Given the description of an element on the screen output the (x, y) to click on. 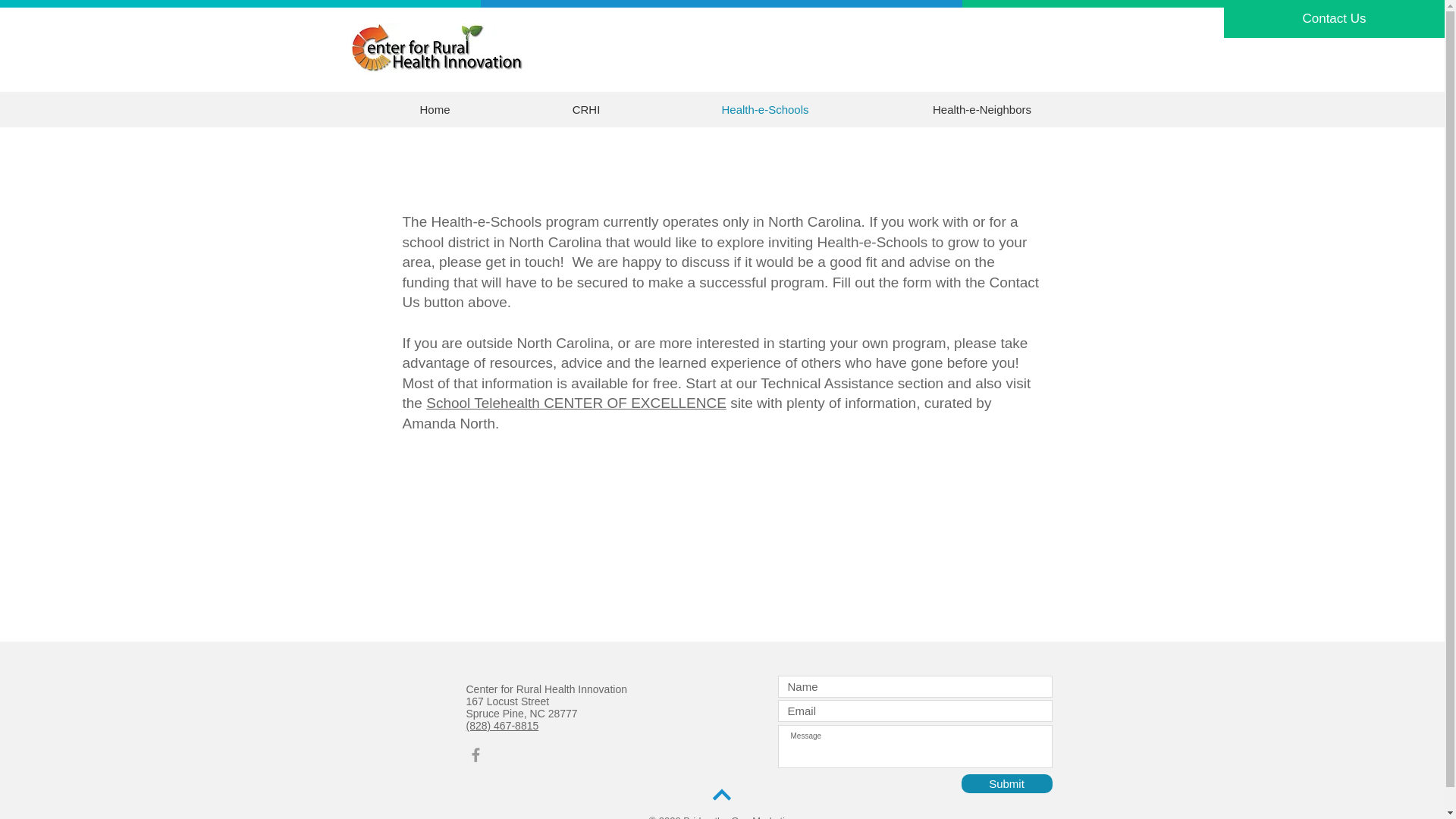
Home (435, 109)
Health-e-Schools (764, 109)
CRHI (586, 109)
Submit (1006, 783)
Health-e-Neighbors (982, 109)
School Telehealth CENTER OF EXCELLENCE (576, 402)
